Given the description of an element on the screen output the (x, y) to click on. 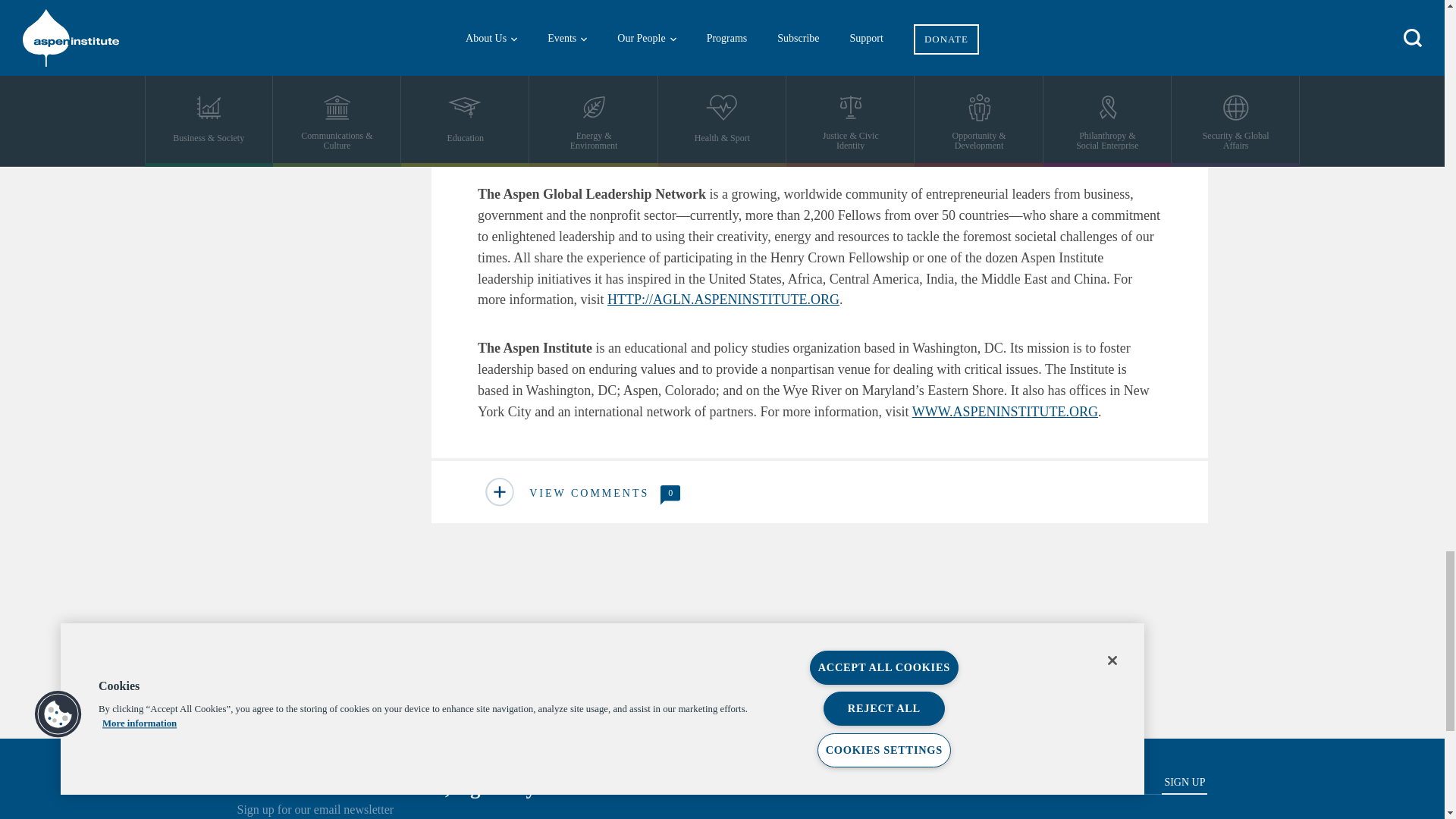
SIGN UP (1184, 785)
